Given the description of an element on the screen output the (x, y) to click on. 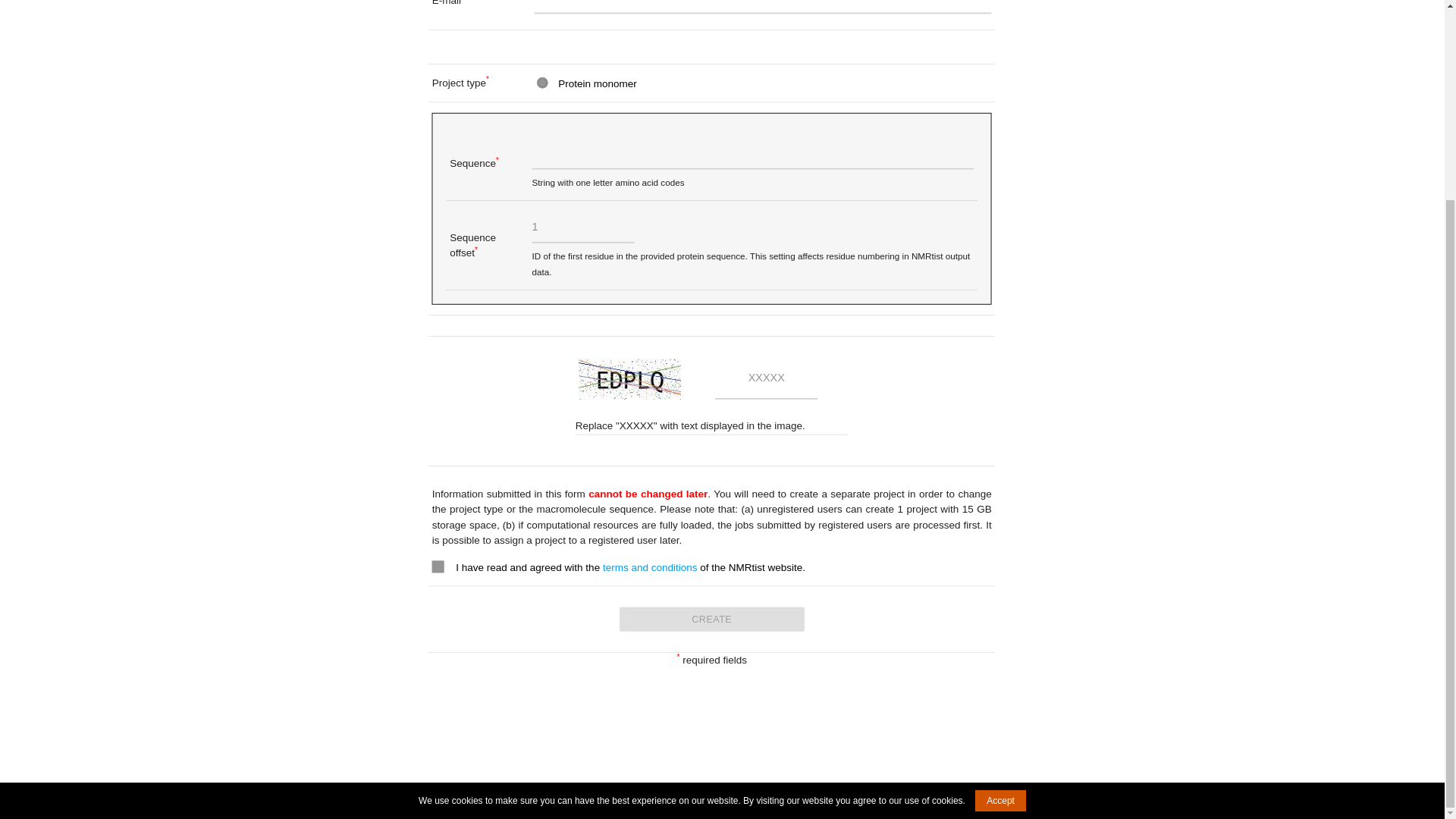
CREATE (722, 619)
1 (589, 229)
Accept (1000, 546)
terms and conditions (654, 567)
XXXXX (772, 380)
